Given the description of an element on the screen output the (x, y) to click on. 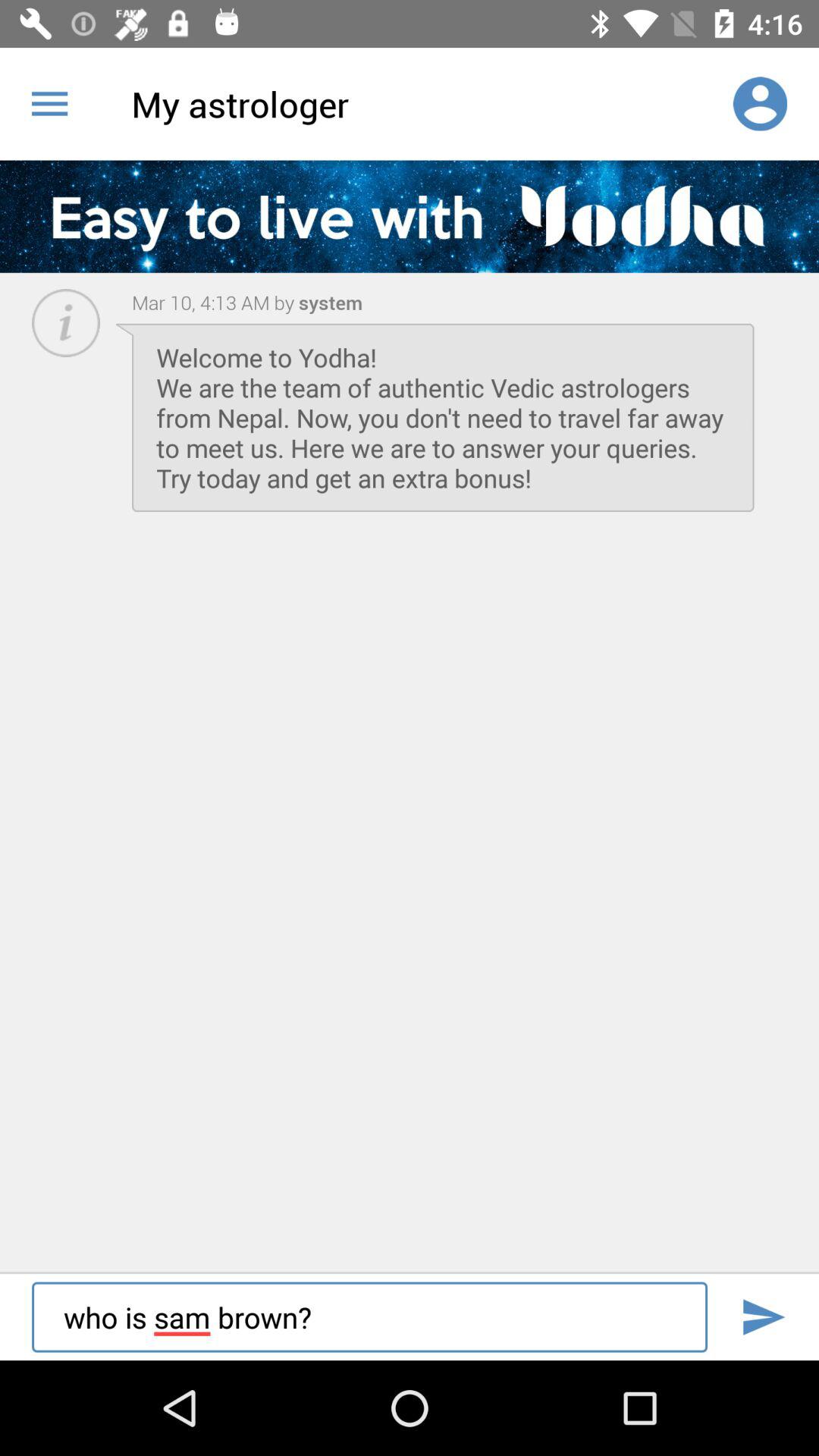
open the icon above the welcome to yodha icon (328, 301)
